Given the description of an element on the screen output the (x, y) to click on. 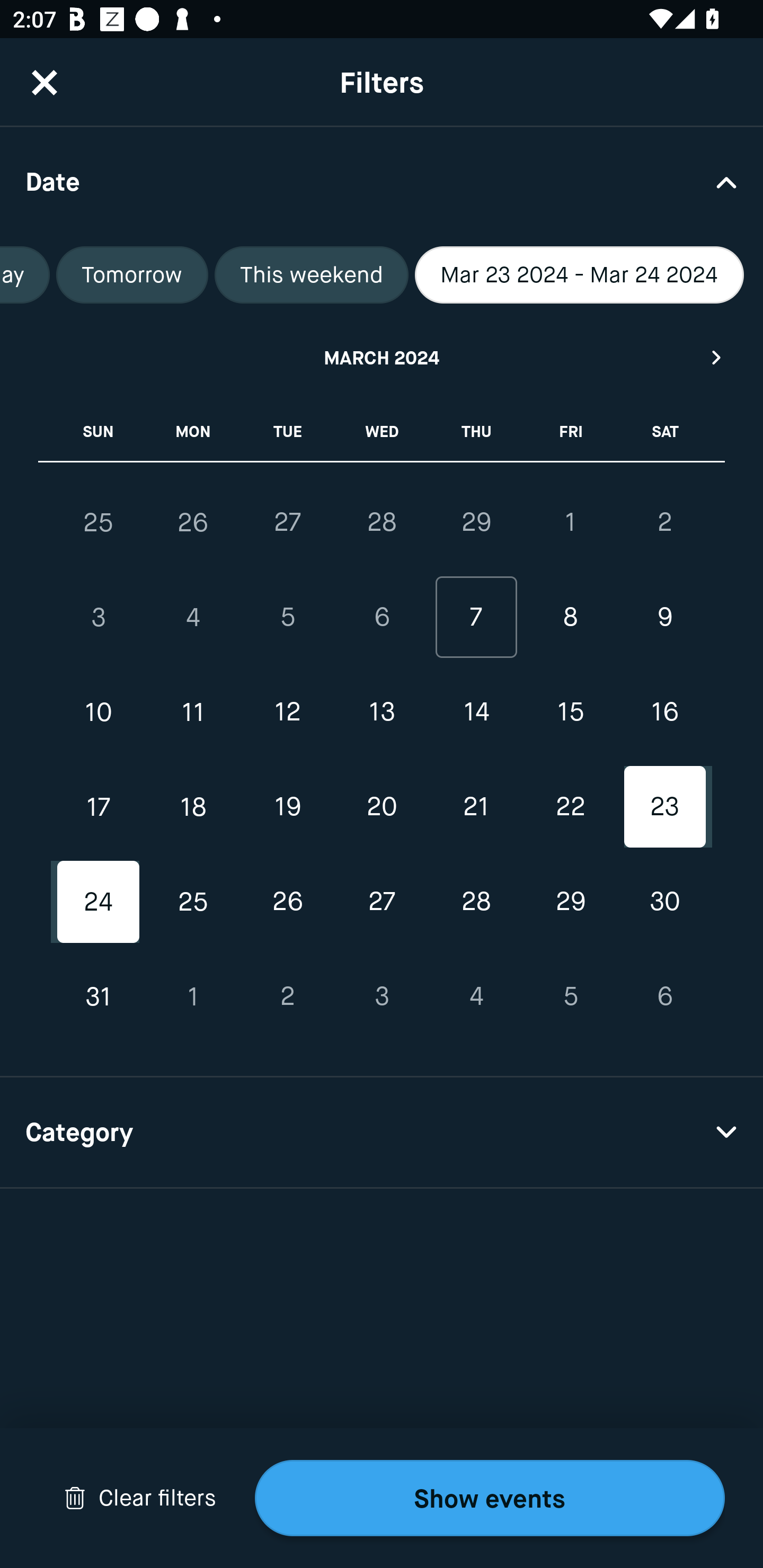
CloseButton (44, 82)
Date Drop Down Arrow (381, 181)
Tomorrow (132, 274)
This weekend (311, 274)
Mar 23 2024 - Mar 24 2024 (579, 274)
Next (717, 357)
25 (98, 522)
26 (192, 522)
27 (287, 522)
28 (381, 522)
29 (475, 522)
1 (570, 522)
2 (664, 522)
3 (98, 617)
4 (192, 617)
5 (287, 617)
6 (381, 617)
7 (475, 617)
8 (570, 617)
9 (664, 617)
10 (98, 711)
11 (192, 711)
12 (287, 711)
13 (381, 711)
14 (475, 711)
15 (570, 711)
16 (664, 711)
17 (98, 806)
18 (192, 806)
19 (287, 806)
20 (381, 806)
21 (475, 806)
22 (570, 806)
23 (664, 806)
24 (98, 901)
25 (192, 901)
26 (287, 901)
27 (381, 901)
28 (475, 901)
29 (570, 901)
30 (664, 901)
31 (98, 996)
1 (192, 996)
2 (287, 996)
3 (381, 996)
4 (475, 996)
5 (570, 996)
6 (664, 996)
Category Drop Down Arrow (381, 1132)
Drop Down Arrow Clear filters (139, 1497)
Show events (489, 1497)
